Given the description of an element on the screen output the (x, y) to click on. 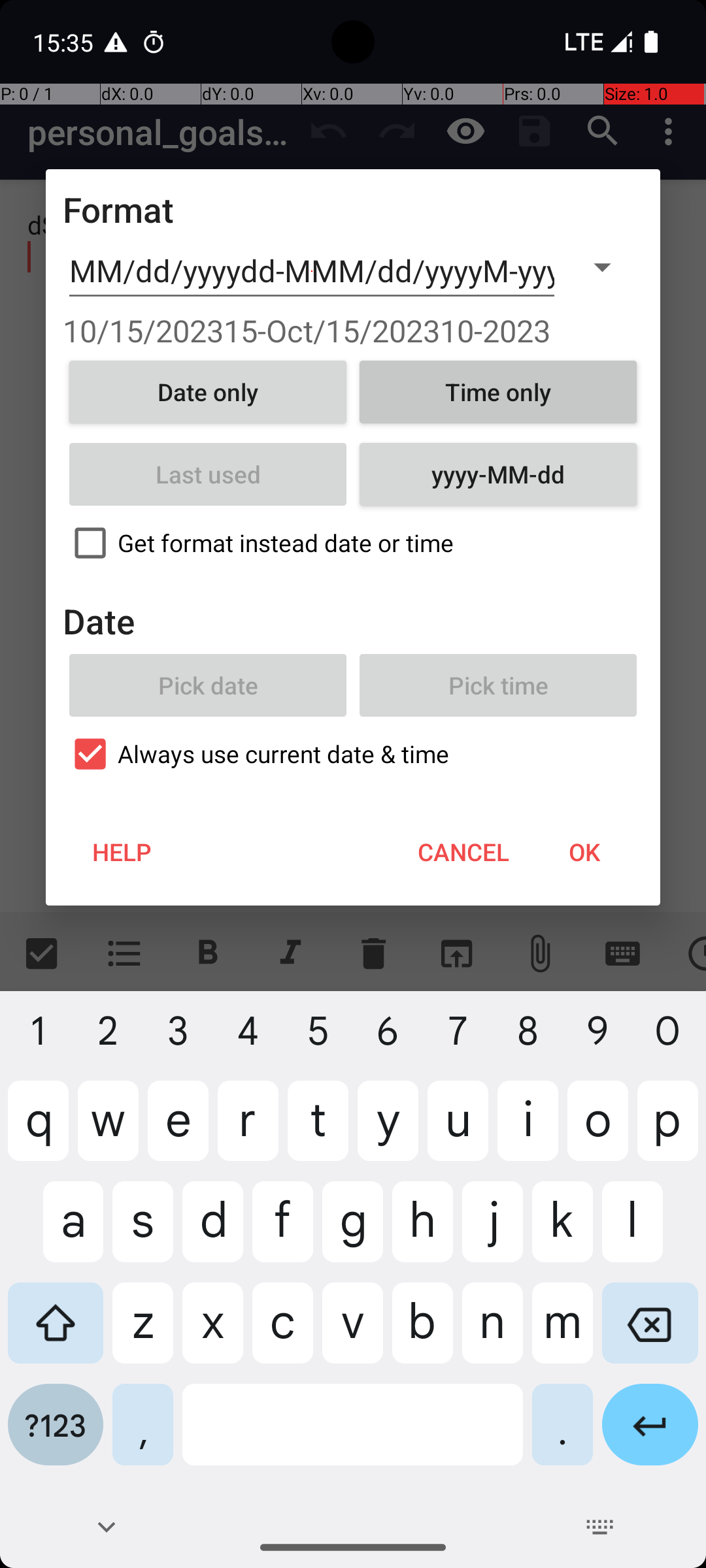
Format Element type: android.widget.TextView (118, 209)
MM/dd/yyyydd-MMM/dd/yyyyM-yyyy Element type: android.widget.EditText (311, 270)
Choose format Element type: android.widget.TextView (601, 266)
10/15/202315-Oct/15/202310-2023 Element type: android.widget.TextView (352, 329)
Date only Element type: android.widget.Button (207, 391)
Time only Element type: android.widget.Button (498, 391)
Last used Element type: android.widget.Button (207, 474)
yyyy-MM-dd Element type: android.widget.Button (498, 474)
Get format instead date or time Element type: android.widget.CheckBox (352, 542)
Pick date Element type: android.widget.Button (207, 685)
Pick time Element type: android.widget.Button (498, 685)
Always use current date & time Element type: android.widget.CheckBox (352, 753)
HELP Element type: android.widget.Button (121, 851)
